Given the description of an element on the screen output the (x, y) to click on. 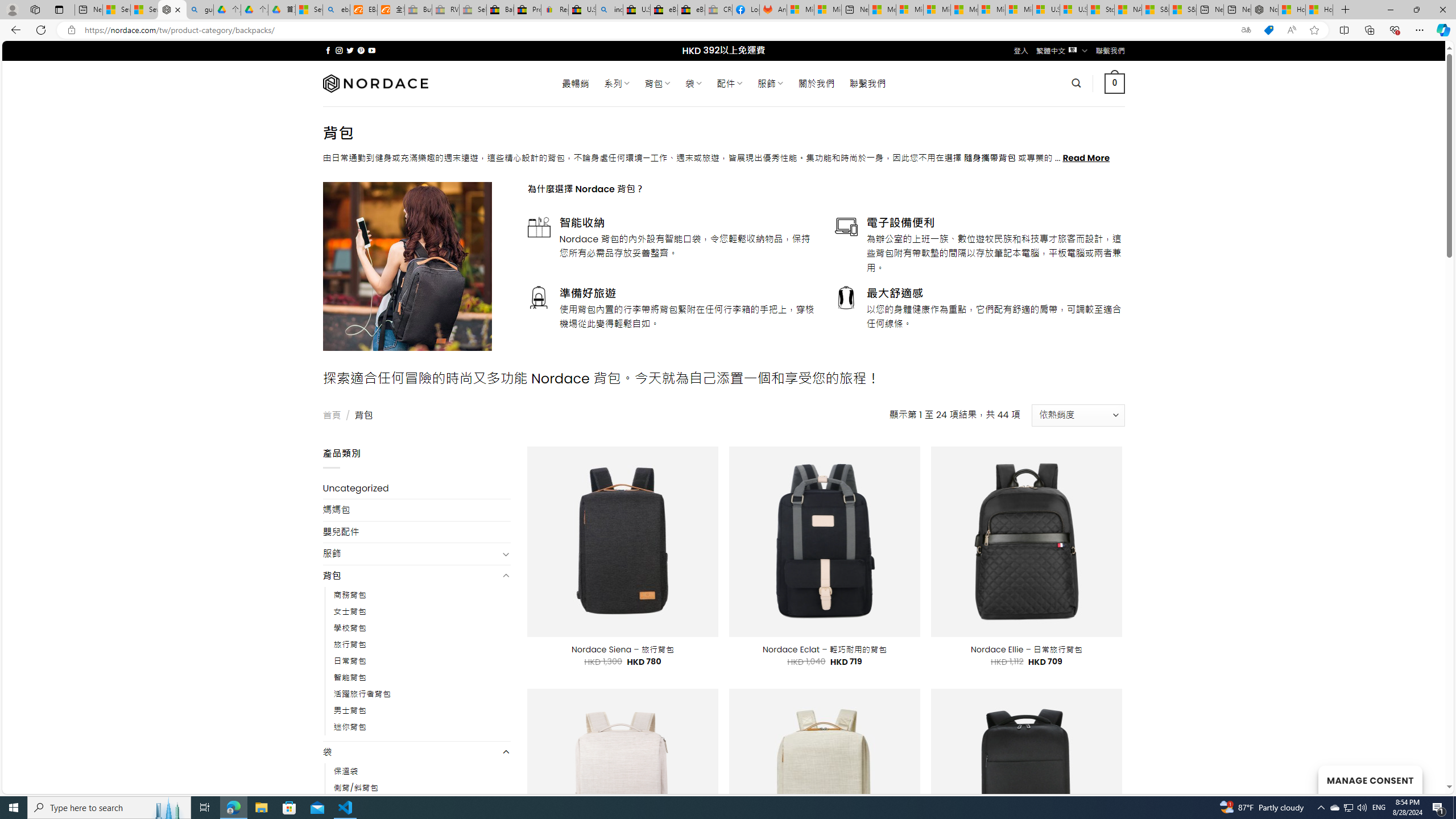
Buy Auto Parts & Accessories | eBay - Sleeping (418, 9)
including - Search (609, 9)
Show translate options (1245, 29)
Follow on Pinterest (360, 50)
